Given the description of an element on the screen output the (x, y) to click on. 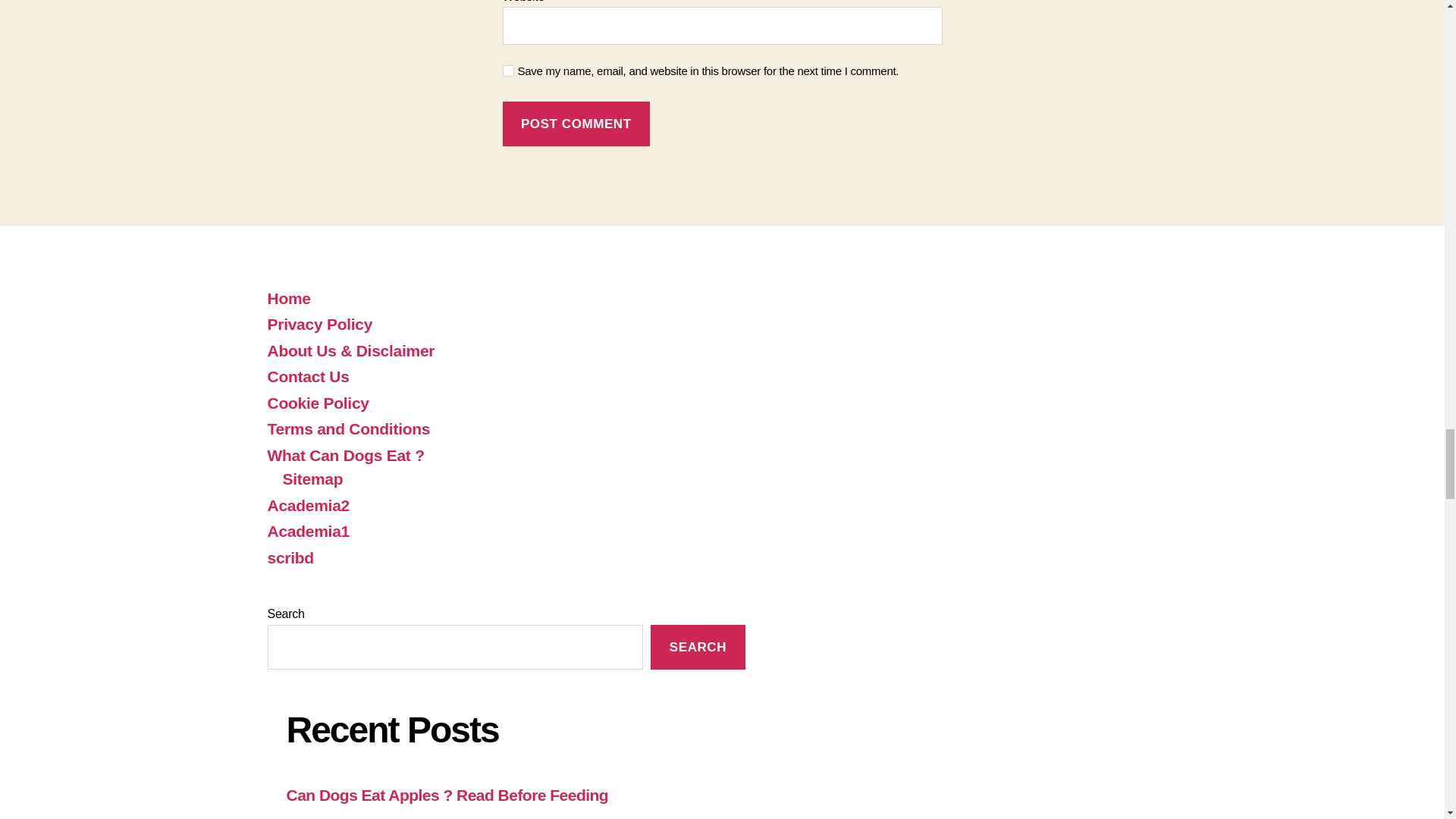
Post Comment (575, 123)
yes (507, 70)
